Given the description of an element on the screen output the (x, y) to click on. 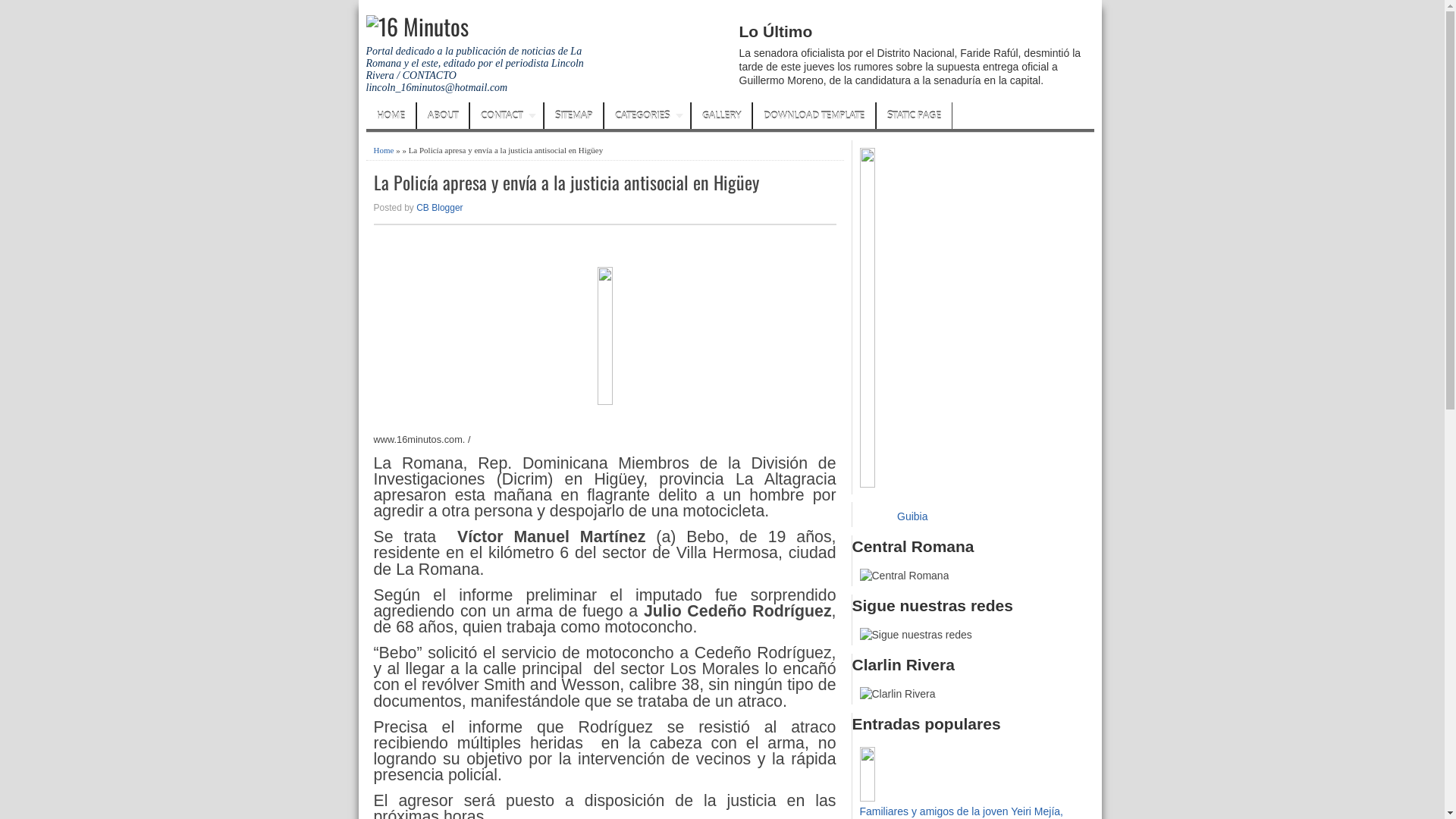
Guibia Element type: text (912, 516)
SITEMAP Element type: text (573, 115)
STATIC PAGE Element type: text (913, 115)
GALLERY Element type: text (721, 115)
CONTACT Element type: text (506, 115)
ABOUT Element type: text (442, 115)
DOWNLOAD TEMPLATE Element type: text (813, 115)
CATEGORIES Element type: text (646, 115)
CB Blogger Element type: text (439, 207)
HOME Element type: text (389, 115)
Home Element type: text (383, 149)
